Given the description of an element on the screen output the (x, y) to click on. 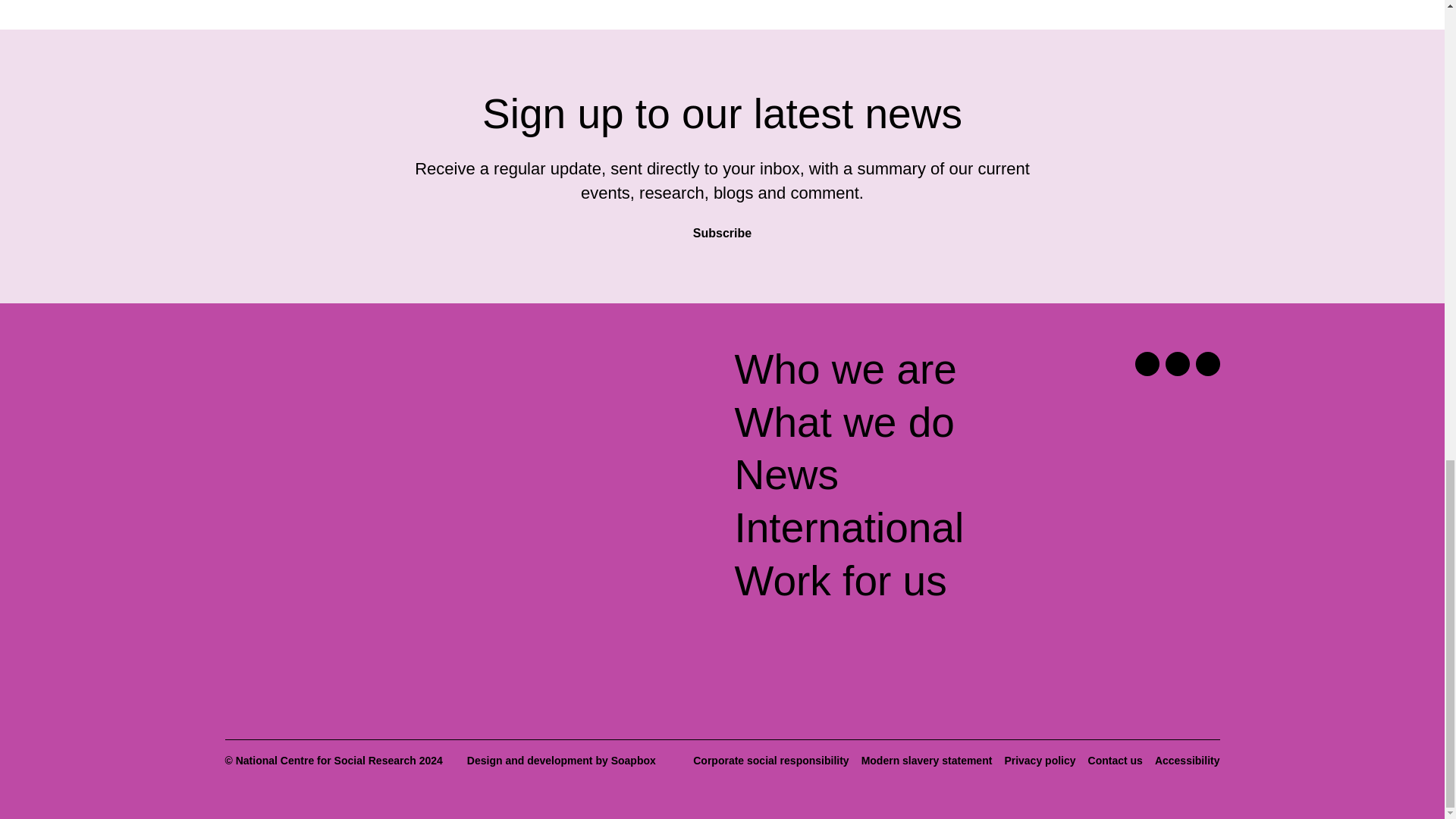
What we do (843, 422)
Youtube (1207, 363)
Return to the homepage (344, 376)
Twitter (1146, 363)
Who we are (844, 369)
Linkedin (1176, 363)
Subscribe (722, 226)
